Given the description of an element on the screen output the (x, y) to click on. 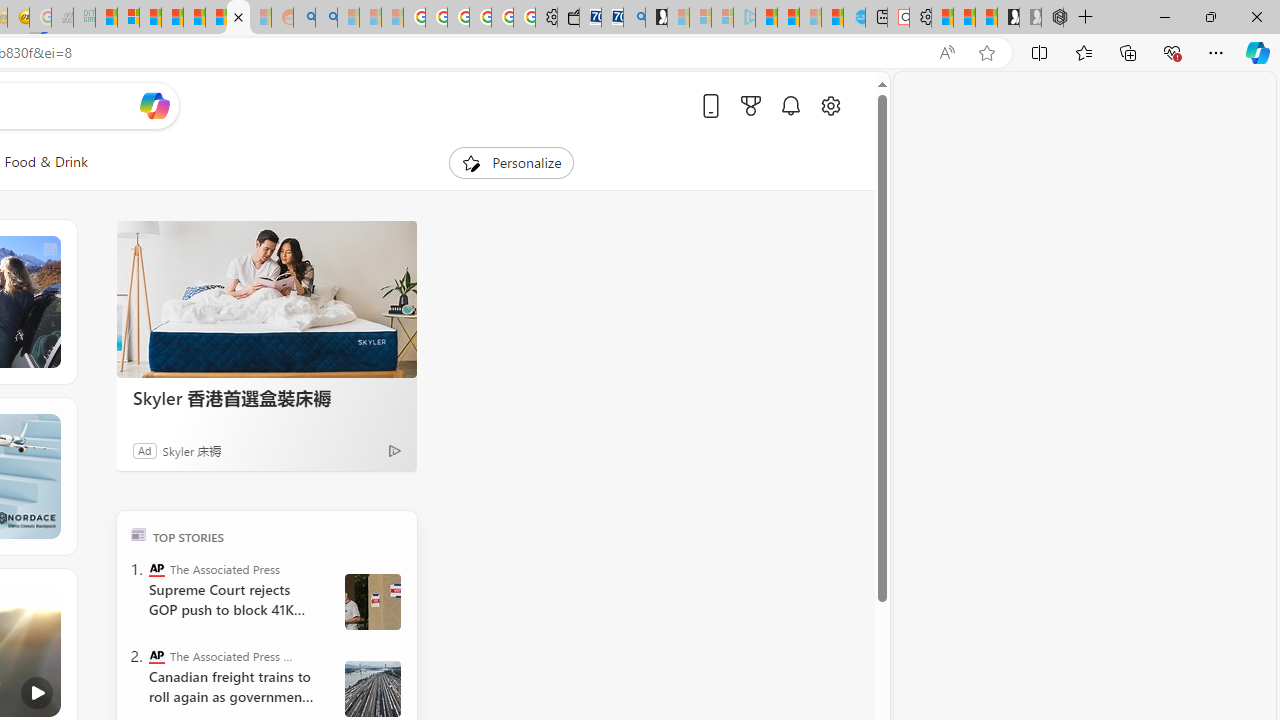
The Associated Press (156, 568)
